Given the description of an element on the screen output the (x, y) to click on. 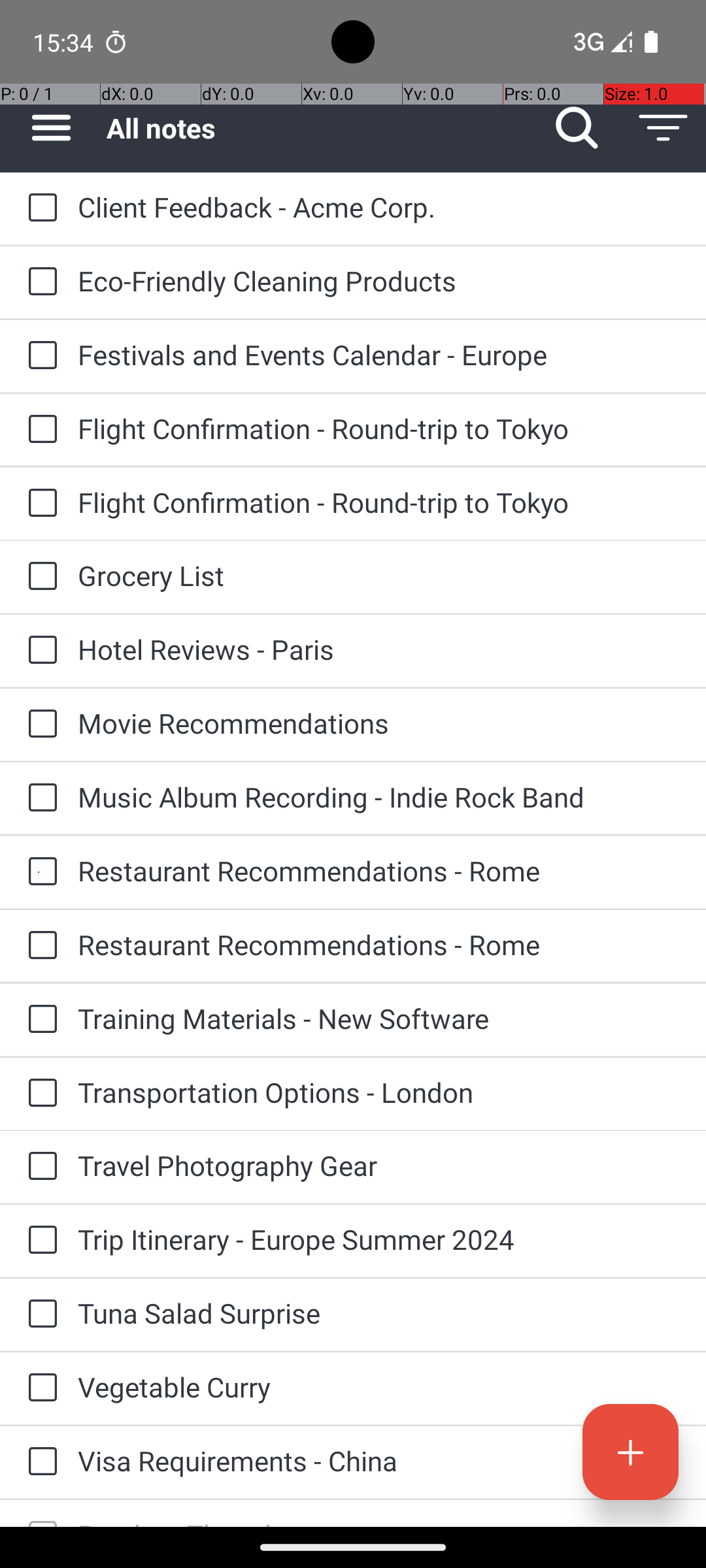
to-do: Client Feedback - Acme Corp. Element type: android.widget.CheckBox (38, 208)
Client Feedback - Acme Corp. Element type: android.widget.TextView (378, 206)
to-do: Eco-Friendly Cleaning Products Element type: android.widget.CheckBox (38, 282)
to-do: Festivals and Events Calendar - Europe Element type: android.widget.CheckBox (38, 356)
Festivals and Events Calendar - Europe Element type: android.widget.TextView (378, 354)
to-do: Flight Confirmation - Round-trip to Tokyo Element type: android.widget.CheckBox (38, 429)
to-do: Hotel Reviews - Paris Element type: android.widget.CheckBox (38, 650)
Hotel Reviews - Paris Element type: android.widget.TextView (378, 648)
to-do: Movie Recommendations Element type: android.widget.CheckBox (38, 724)
Movie Recommendations Element type: android.widget.TextView (378, 722)
to-do: Training Materials - New Software Element type: android.widget.CheckBox (38, 1019)
Training Materials - New Software Element type: android.widget.TextView (378, 1017)
to-do: Transportation Options - London Element type: android.widget.CheckBox (38, 1093)
Transportation Options - London Element type: android.widget.TextView (378, 1091)
to-do: Travel Photography Gear Element type: android.widget.CheckBox (38, 1166)
Travel Photography Gear Element type: android.widget.TextView (378, 1164)
to-do: Trip Itinerary - Europe Summer 2024 Element type: android.widget.CheckBox (38, 1240)
Trip Itinerary - Europe Summer 2024 Element type: android.widget.TextView (378, 1238)
to-do: Tuna Salad Surprise Element type: android.widget.CheckBox (38, 1314)
Tuna Salad Surprise Element type: android.widget.TextView (378, 1312)
to-do: Vegetable Curry Element type: android.widget.CheckBox (38, 1388)
Vegetable Curry Element type: android.widget.TextView (378, 1386)
to-do: Visa Requirements - China Element type: android.widget.CheckBox (38, 1462)
Visa Requirements - China Element type: android.widget.TextView (378, 1460)
to-do: Random Thoughts Element type: android.widget.CheckBox (38, 1513)
Random Thoughts Element type: android.widget.TextView (378, 1520)
